Given the description of an element on the screen output the (x, y) to click on. 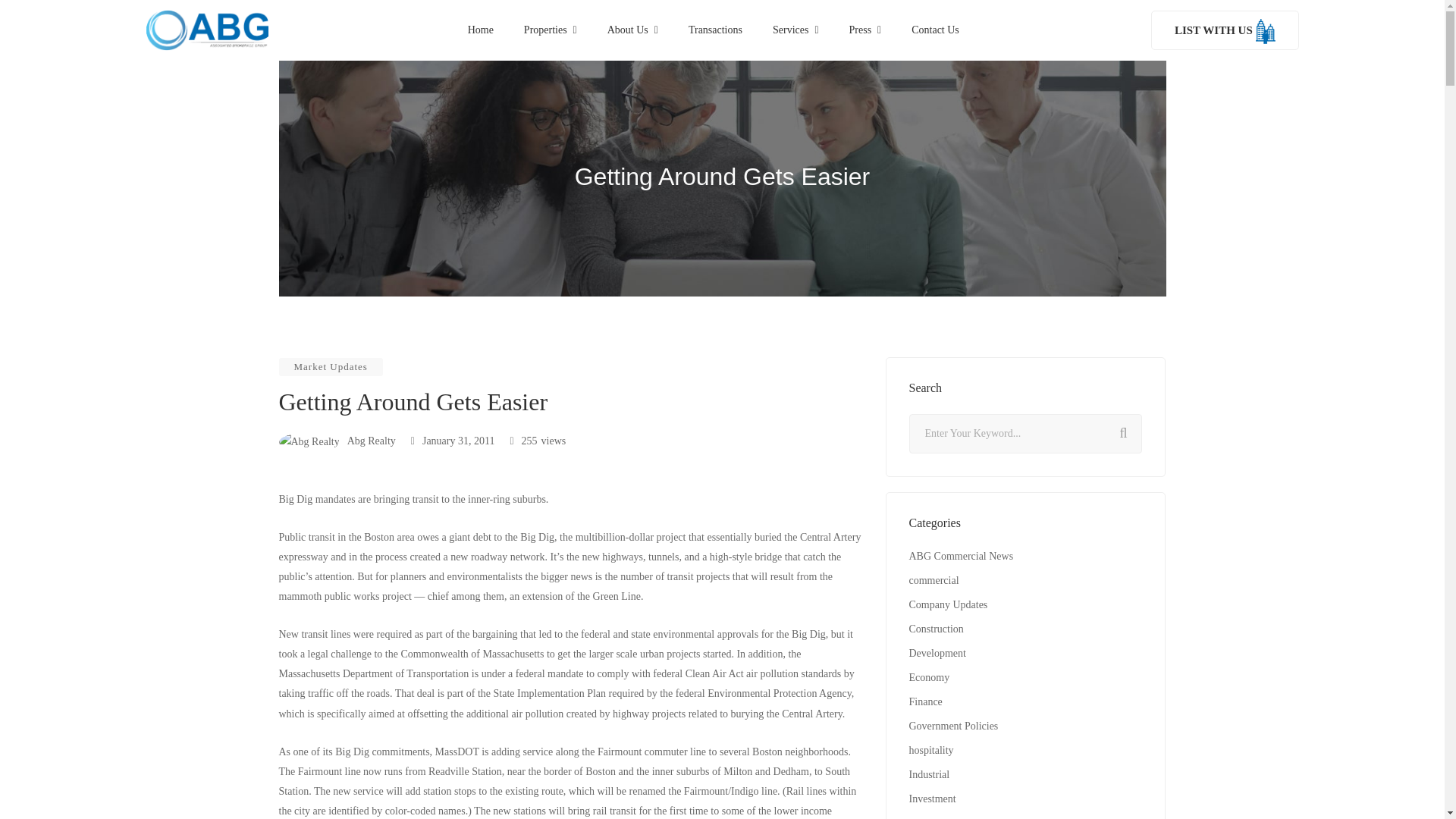
Market Updates (330, 366)
Getting Around Gets Easier (452, 440)
January 31, 2011 (452, 440)
LIST WITH US (1224, 29)
ABG Commercial Realty-Boston Commercial Real Estate News (206, 29)
Abg Realty (337, 440)
List With US (1224, 29)
Browse Author Articles (337, 440)
